Given the description of an element on the screen output the (x, y) to click on. 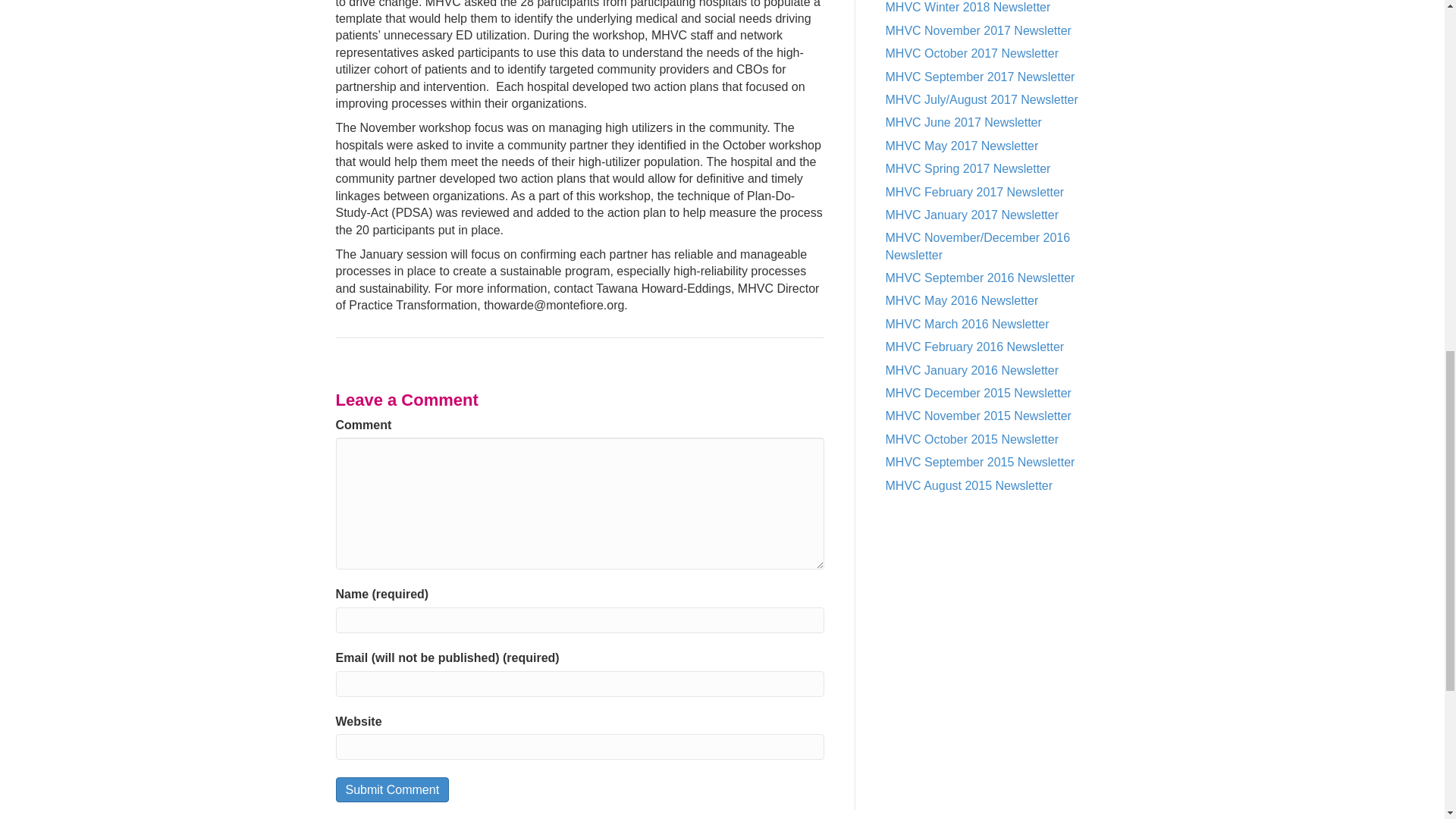
Submit Comment (391, 789)
